Given the description of an element on the screen output the (x, y) to click on. 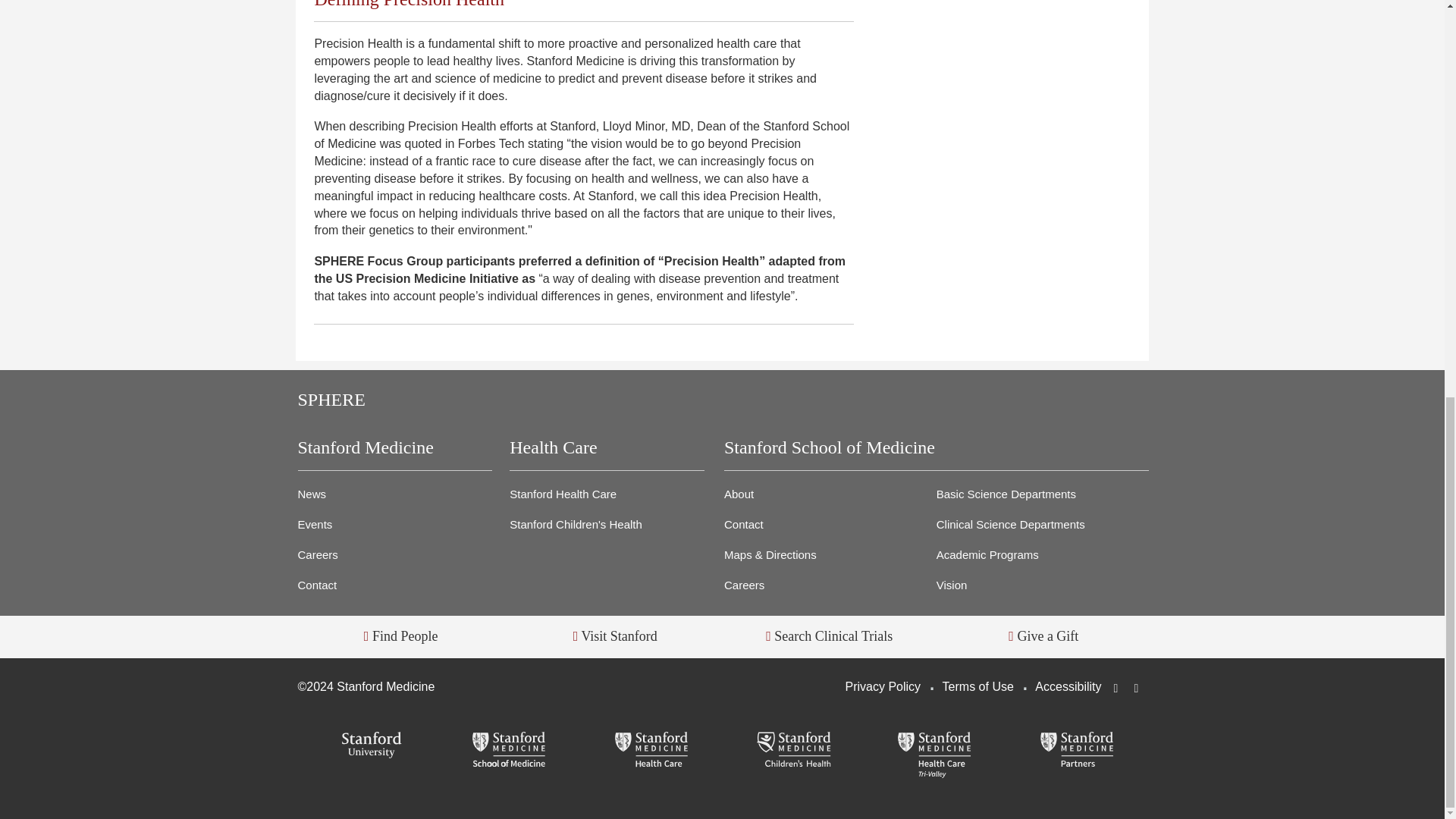
Stanford Children's Health (793, 750)
Stanford School of Medicine (509, 750)
Stanford University (368, 746)
Stanford Health Care (650, 750)
Stanford Medicine Partners (1076, 750)
Stanford Health Care Tri-Valley (934, 755)
